Given the description of an element on the screen output the (x, y) to click on. 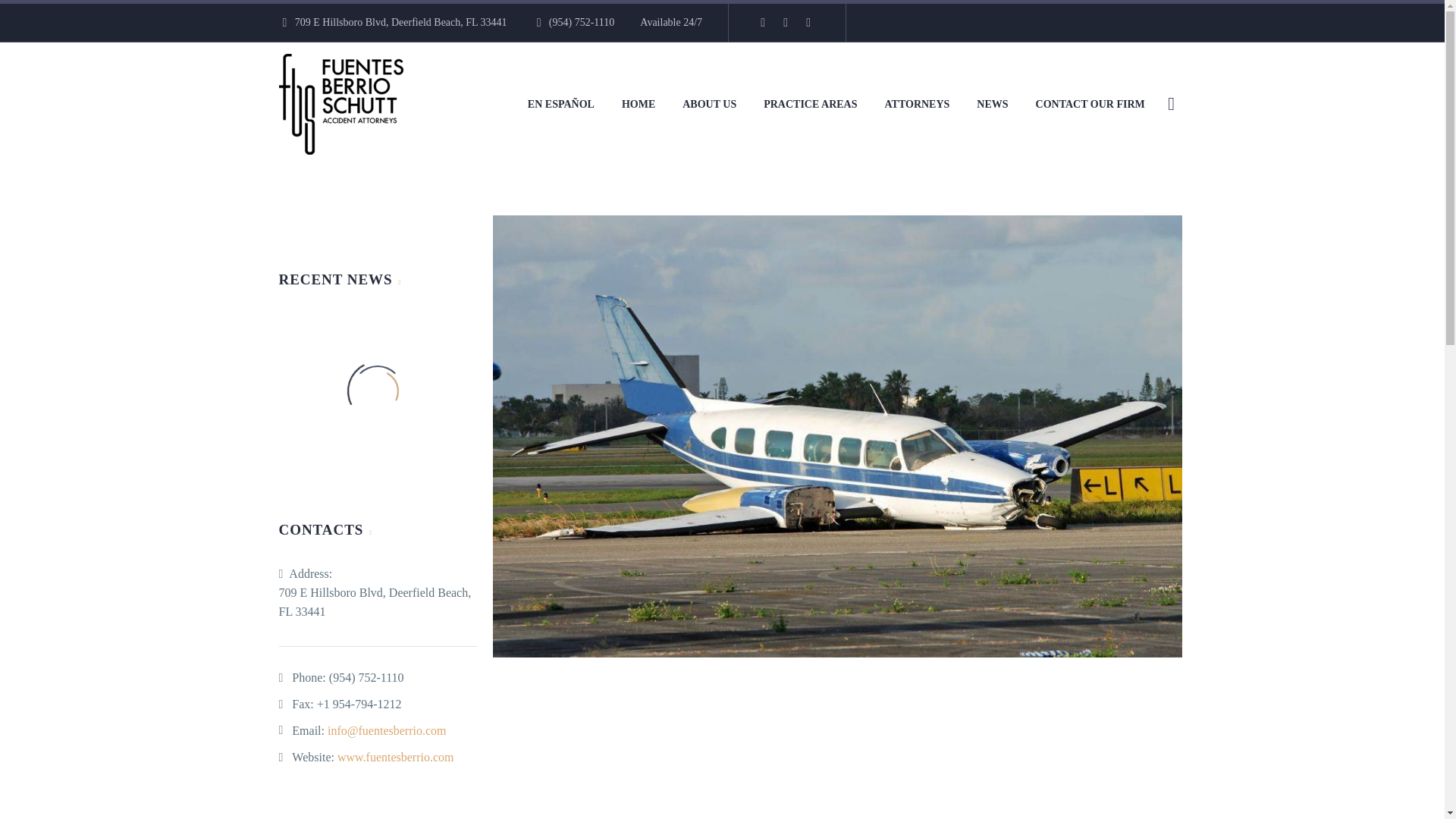
ATTORNEYS (916, 104)
HOME (638, 104)
Facebook (762, 22)
Twitter (785, 22)
NEWS (992, 104)
CONTACT OUR FIRM (1090, 104)
Instagram (807, 22)
ABOUT US (709, 104)
PRACTICE AREAS (809, 104)
